Given the description of an element on the screen output the (x, y) to click on. 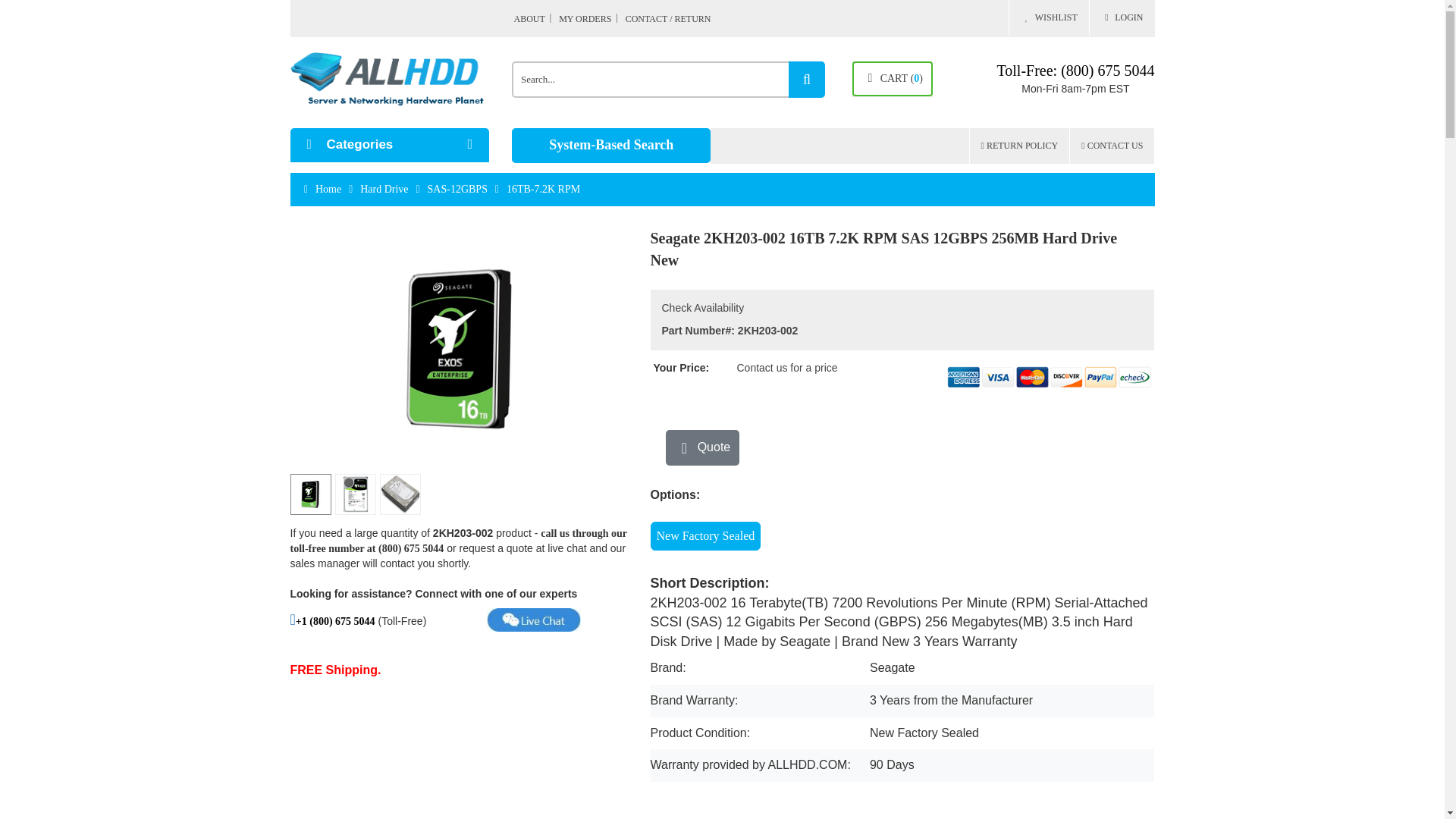
WISHLIST (1048, 18)
Seagate 2KH203-002 16TB Hard Disk Drive (461, 349)
LOGIN (1121, 18)
MY ORDERS (591, 18)
Seagate 2KH203-002 SAS 16TB Hard Drive (354, 494)
ABOUT (534, 18)
Seagate 2KH203-002 SAS 12GBPS Hard Disk (400, 494)
Seagate 2KH203-002 16TB Hard Disk Drive (310, 494)
